Given the description of an element on the screen output the (x, y) to click on. 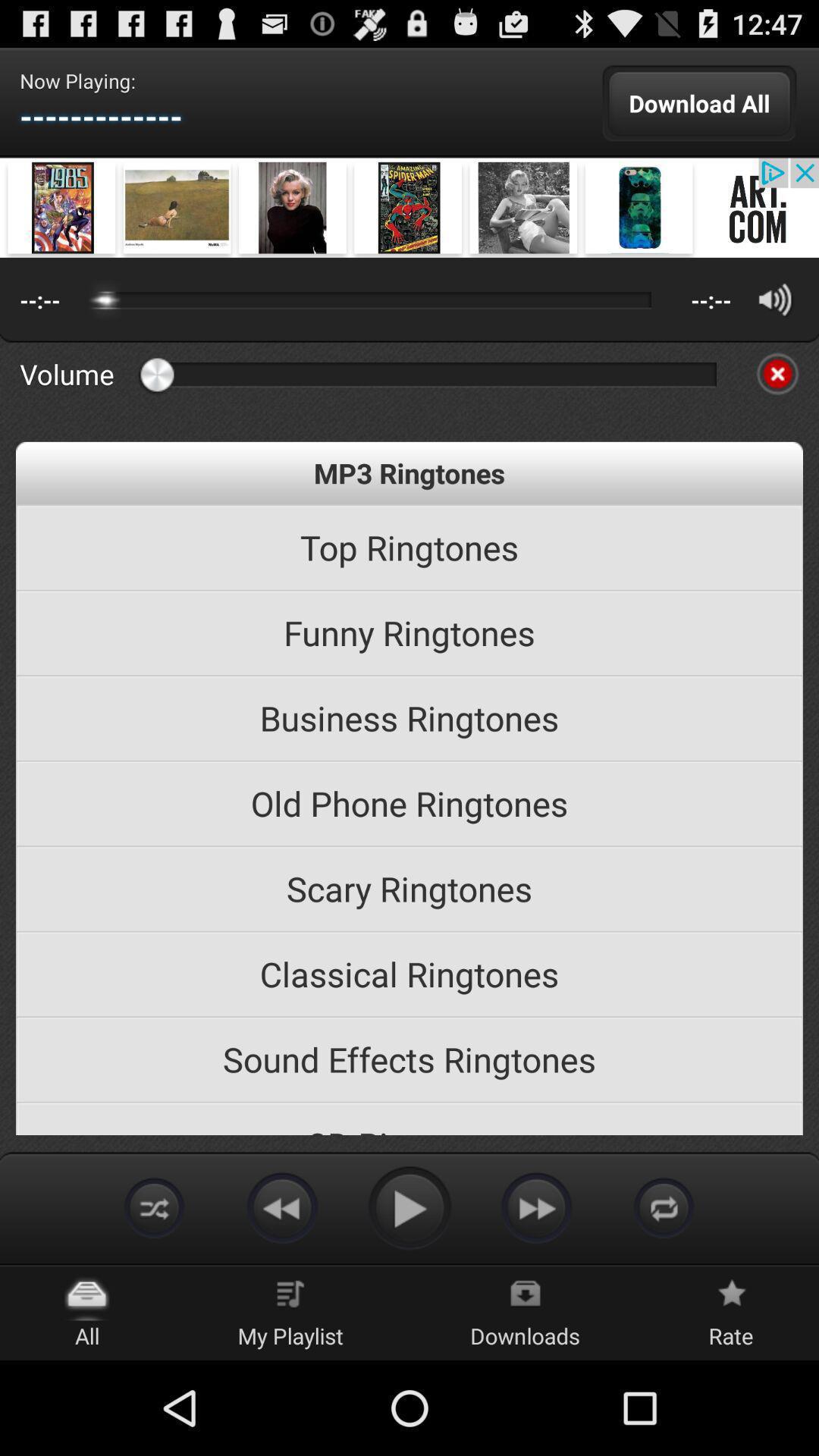
fast forward song (536, 1207)
